Given the description of an element on the screen output the (x, y) to click on. 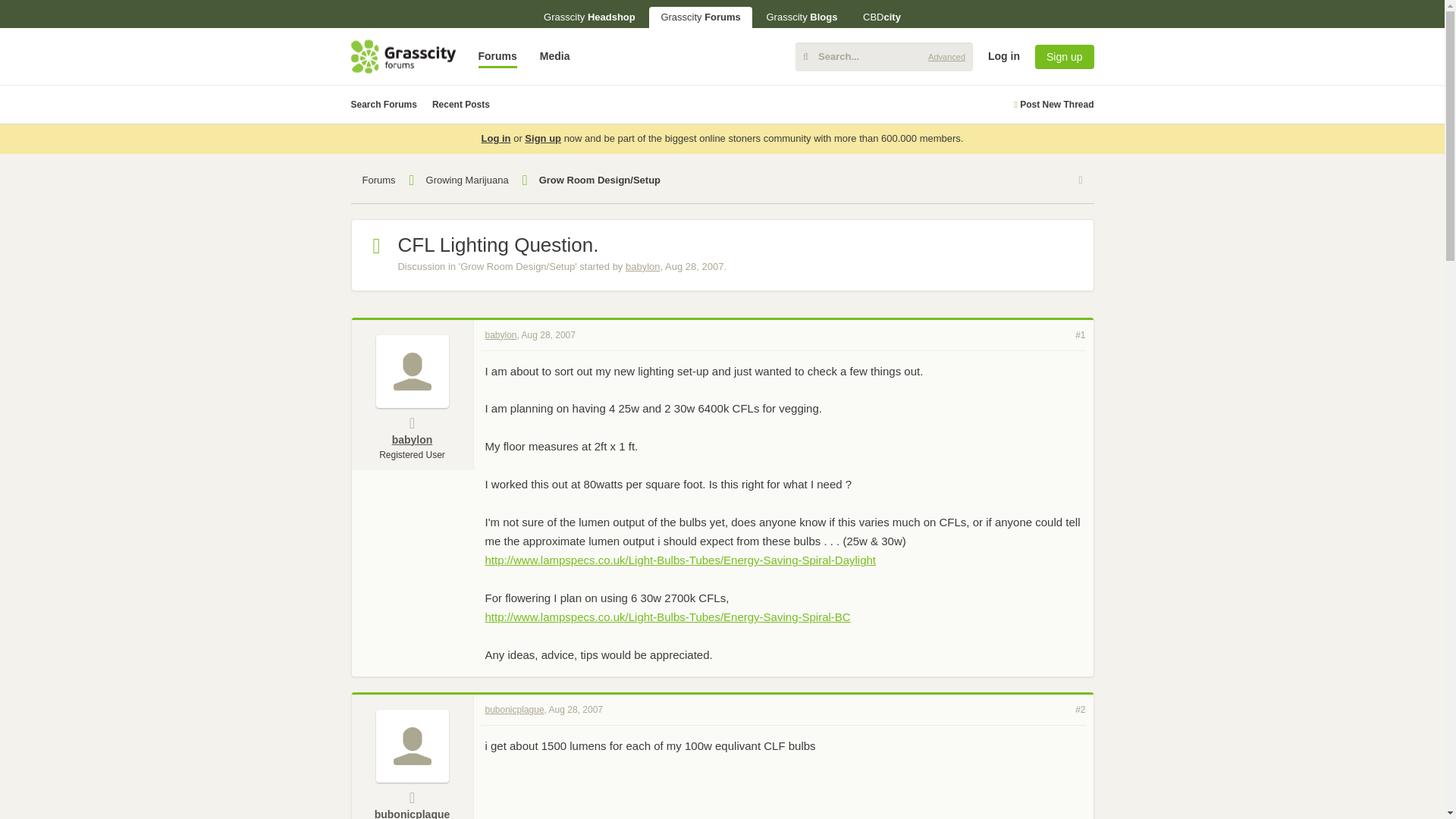
Recent Posts (460, 104)
Advanced (946, 56)
Search Forums (383, 104)
Grasscity Forums (700, 16)
Forums (497, 56)
Aug 28, 2007 at 6:54 PM (694, 266)
Grasscity Headshop (589, 16)
Enter your search and hit enter (883, 56)
CBDcity (881, 16)
Sign up (1064, 56)
Permalink (548, 334)
Media (554, 56)
Log in (1316, 172)
Grasscity Blogs (801, 16)
Post New Thread (1053, 104)
